Given the description of an element on the screen output the (x, y) to click on. 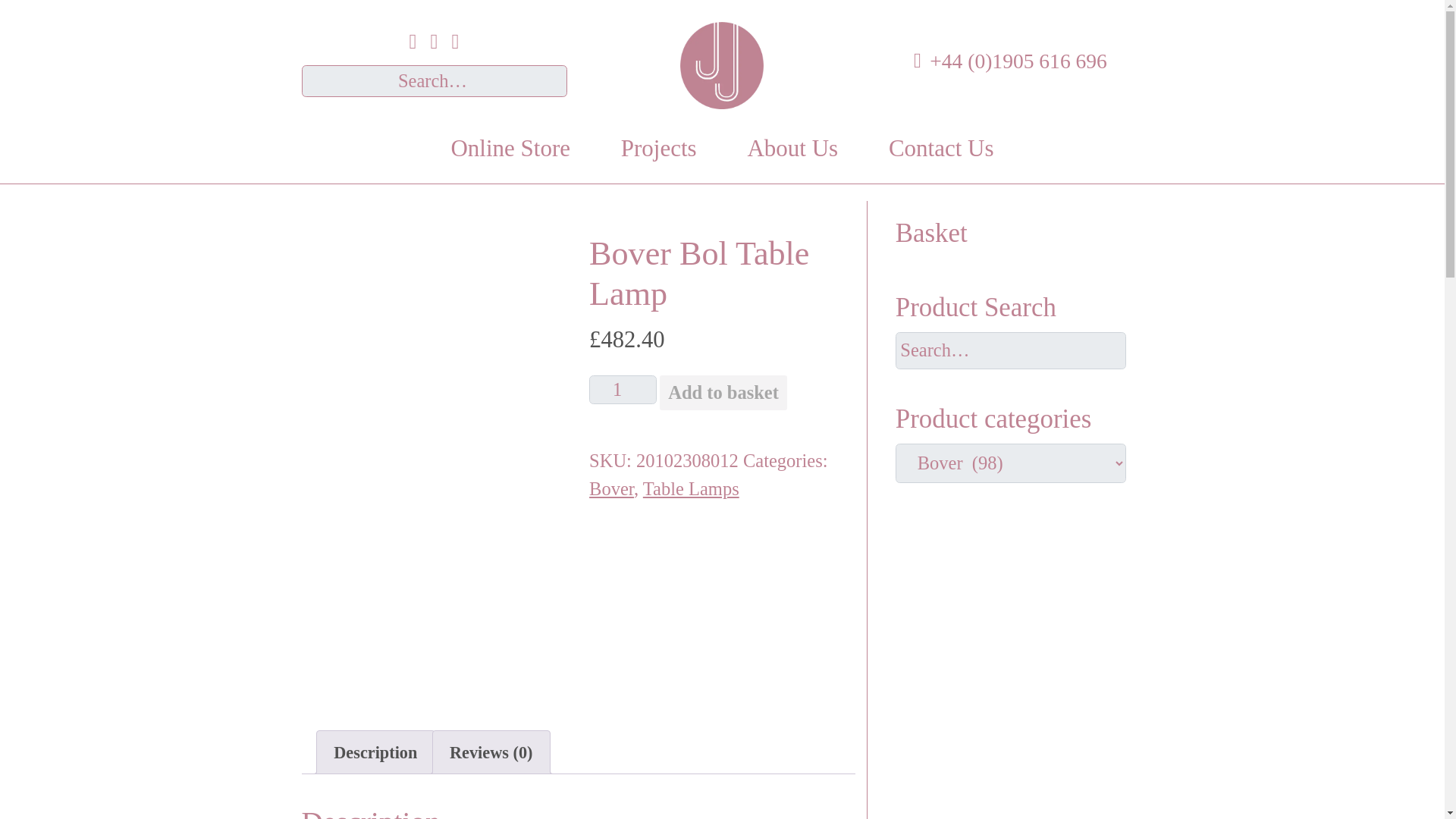
1 (622, 389)
Online Store (510, 149)
Description (374, 752)
Contact Us (941, 149)
About Us (791, 149)
Table Lamps (691, 488)
Projects (658, 149)
Contact Us (941, 149)
Online Store (510, 149)
Add to basket (723, 393)
Projects (658, 149)
About Us (791, 149)
Bover (611, 488)
